Given the description of an element on the screen output the (x, y) to click on. 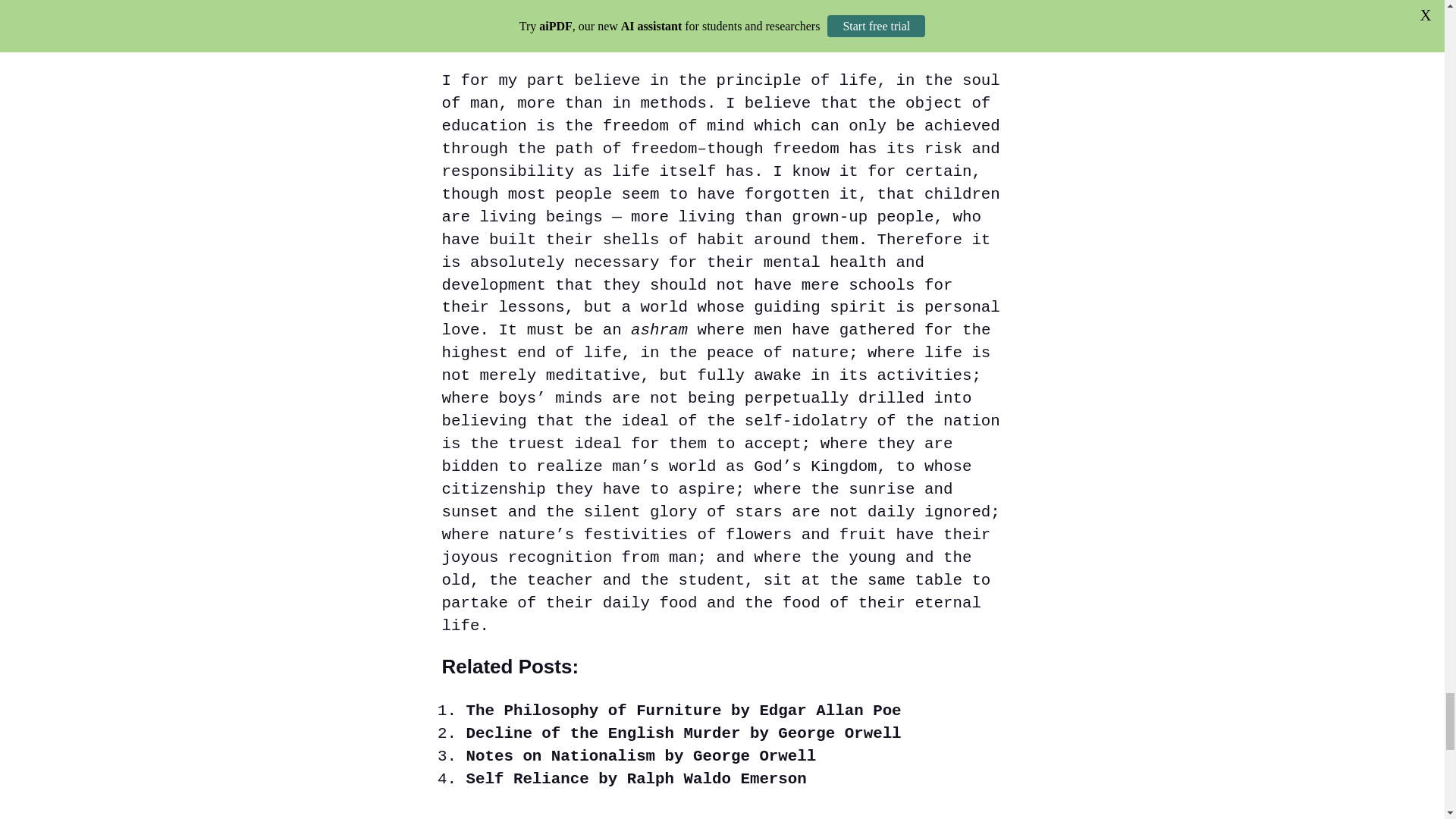
Self Reliance by Ralph Waldo Emerson (635, 778)
Notes on Nationalism by George Orwell (640, 755)
Decline of the English Murder by George Orwell (683, 733)
The Philosophy of Furniture by Edgar Allan Poe (683, 710)
